Given the description of an element on the screen output the (x, y) to click on. 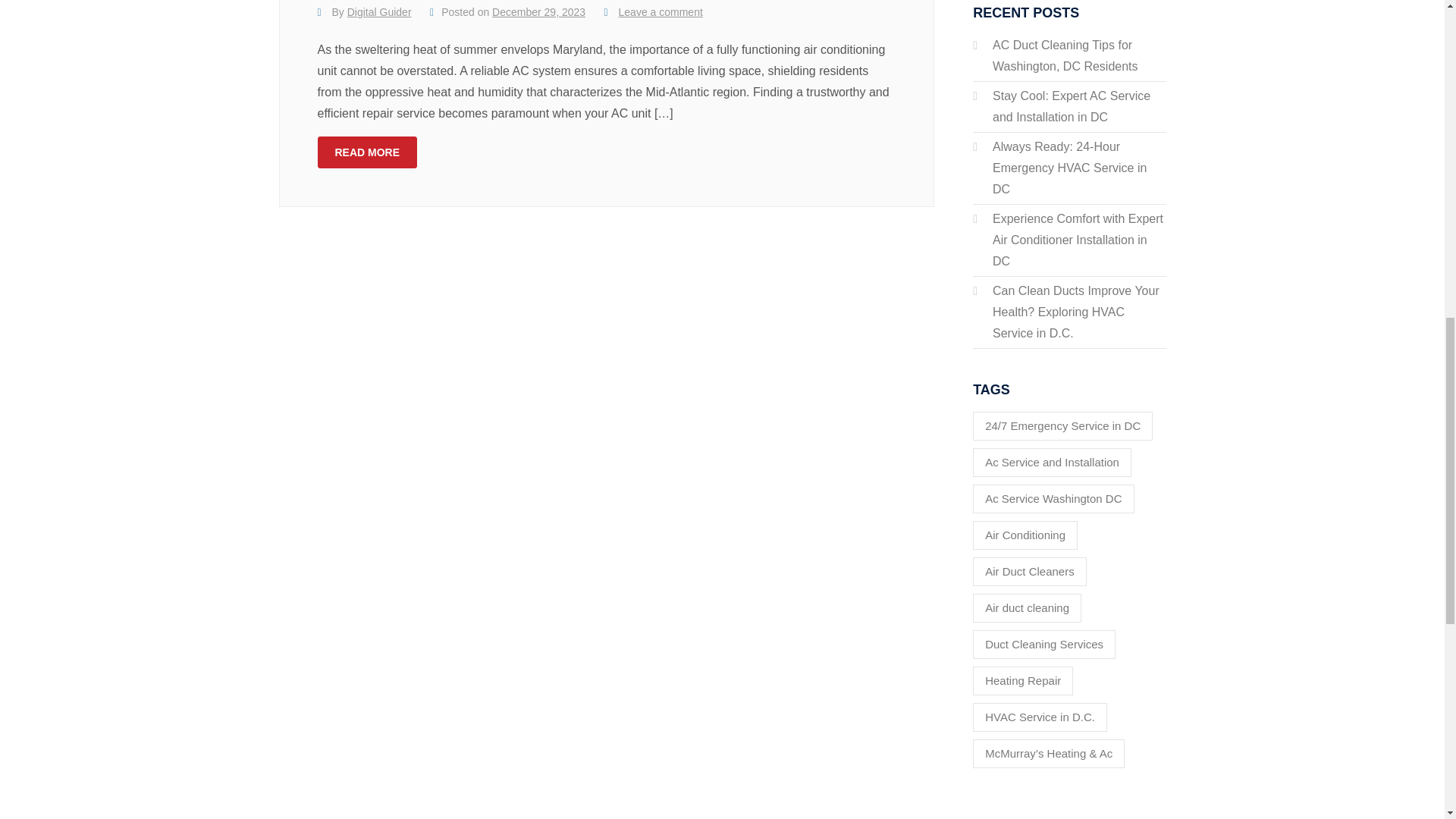
Leave a comment (660, 11)
December 29, 2023 (538, 11)
Digital Guider (379, 11)
READ MORE (366, 152)
